Given the description of an element on the screen output the (x, y) to click on. 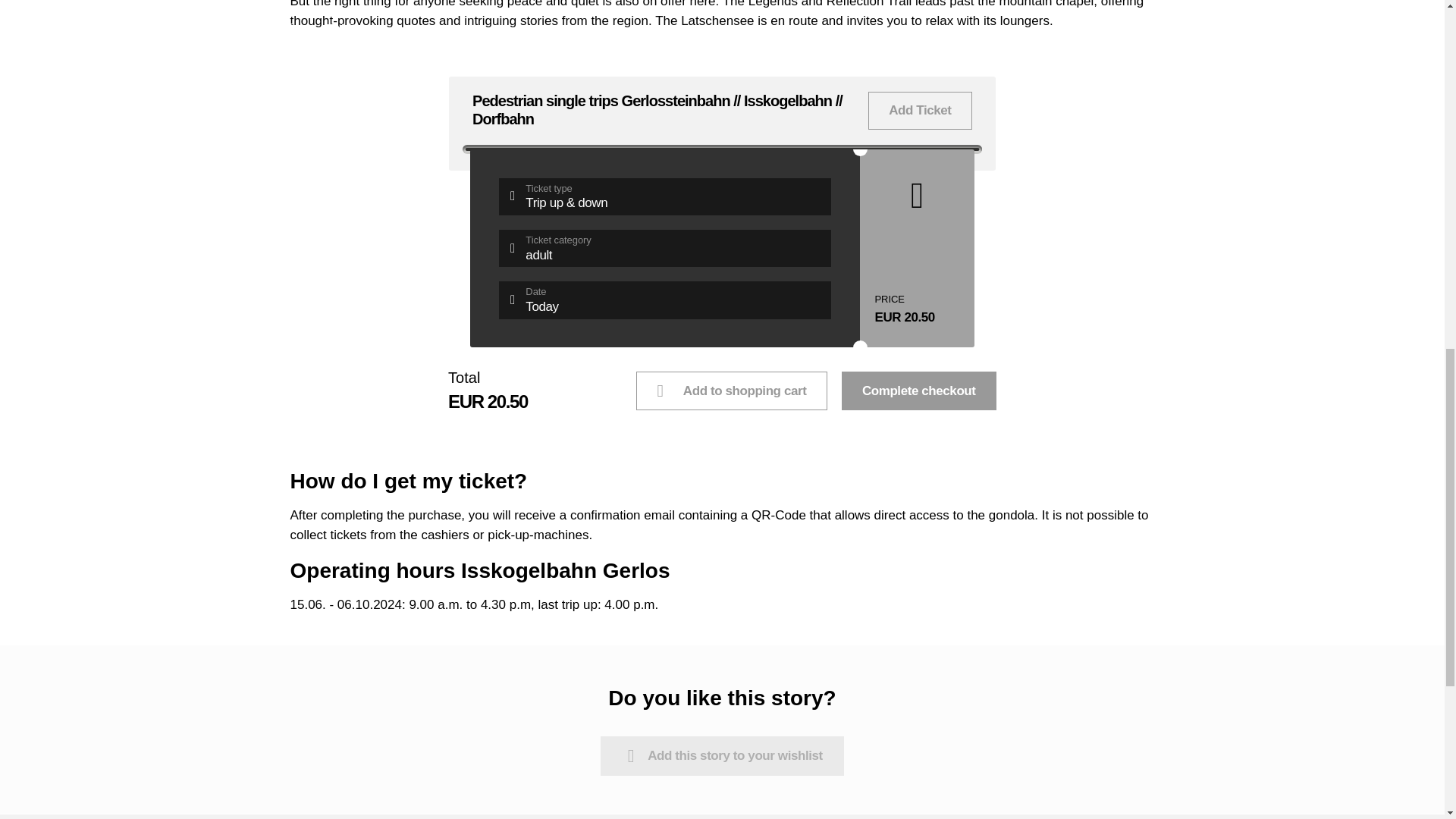
Complete checkout (918, 390)
Add to shopping cart (665, 299)
Add this story to your wishlist (731, 390)
Add Ticket (665, 248)
adult (721, 755)
